Given the description of an element on the screen output the (x, y) to click on. 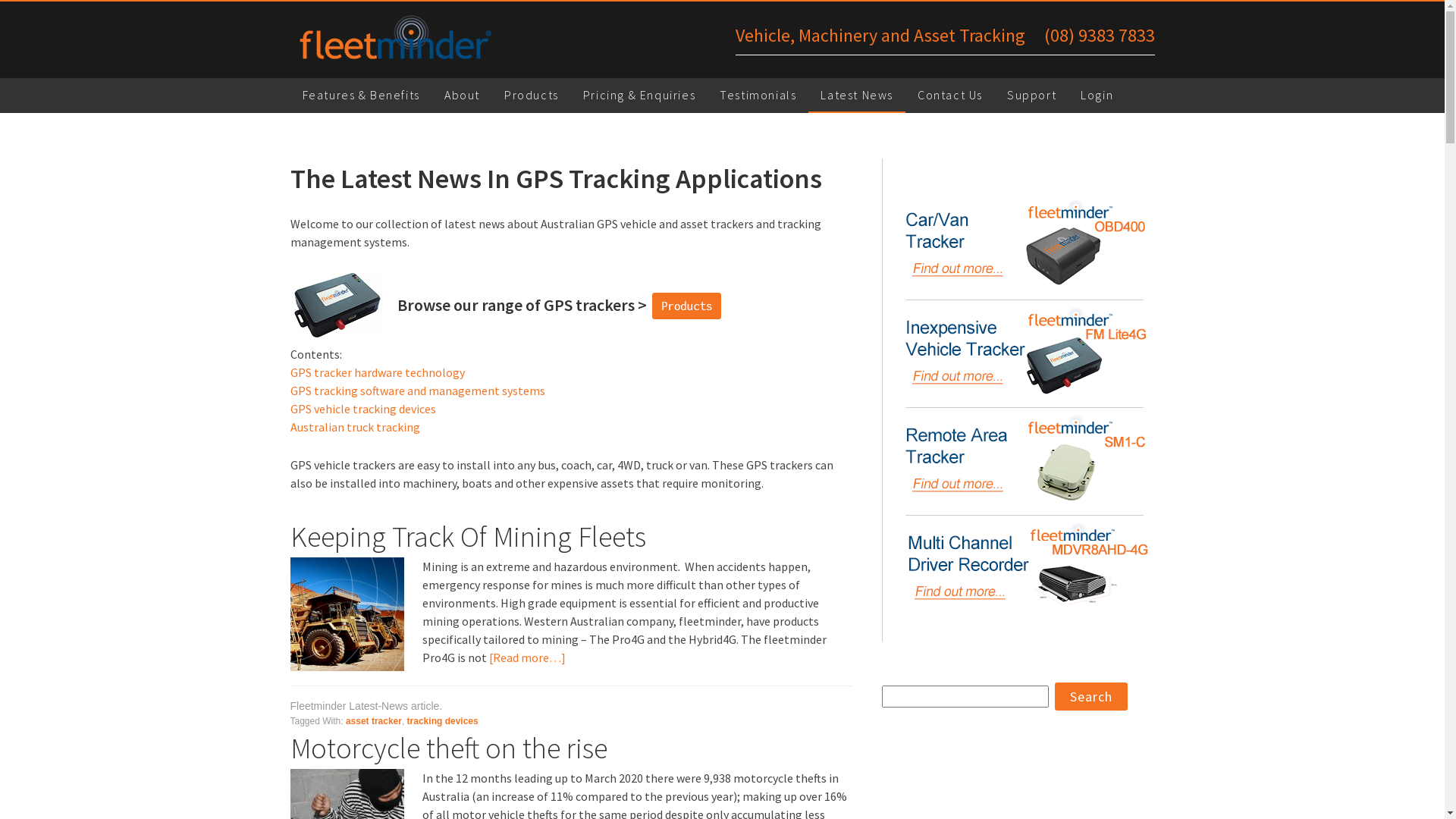
Pricing & Enquiries Element type: text (639, 95)
Inexpensive Vehicle Tracker Element type: hover (1021, 352)
Remote Area Tracker Element type: hover (1021, 459)
Contact Us Element type: text (949, 95)
GPS vehicle tracking devices Element type: text (362, 408)
Car/Van Tracker Element type: hover (1021, 244)
Products Element type: text (531, 95)
Motorcycle theft on the rise Element type: text (447, 747)
Support Element type: text (1031, 95)
Search Element type: text (1090, 696)
Features & Benefits Element type: text (360, 95)
Fleetminder GPS Vehicle Tracking Devices Element type: text (425, 38)
Testimonials Element type: text (757, 95)
Login Element type: text (1096, 95)
GPS tracker hardware technology Element type: text (376, 371)
tracking devices Element type: text (442, 720)
Latest News Element type: text (856, 95)
About Element type: text (462, 95)
Australian truck tracking Element type: text (354, 426)
asset tracker Element type: text (373, 720)
GPS tracking software and management systems Element type: text (416, 390)
Keeping Track Of Mining Fleets Element type: text (467, 536)
